Given the description of an element on the screen output the (x, y) to click on. 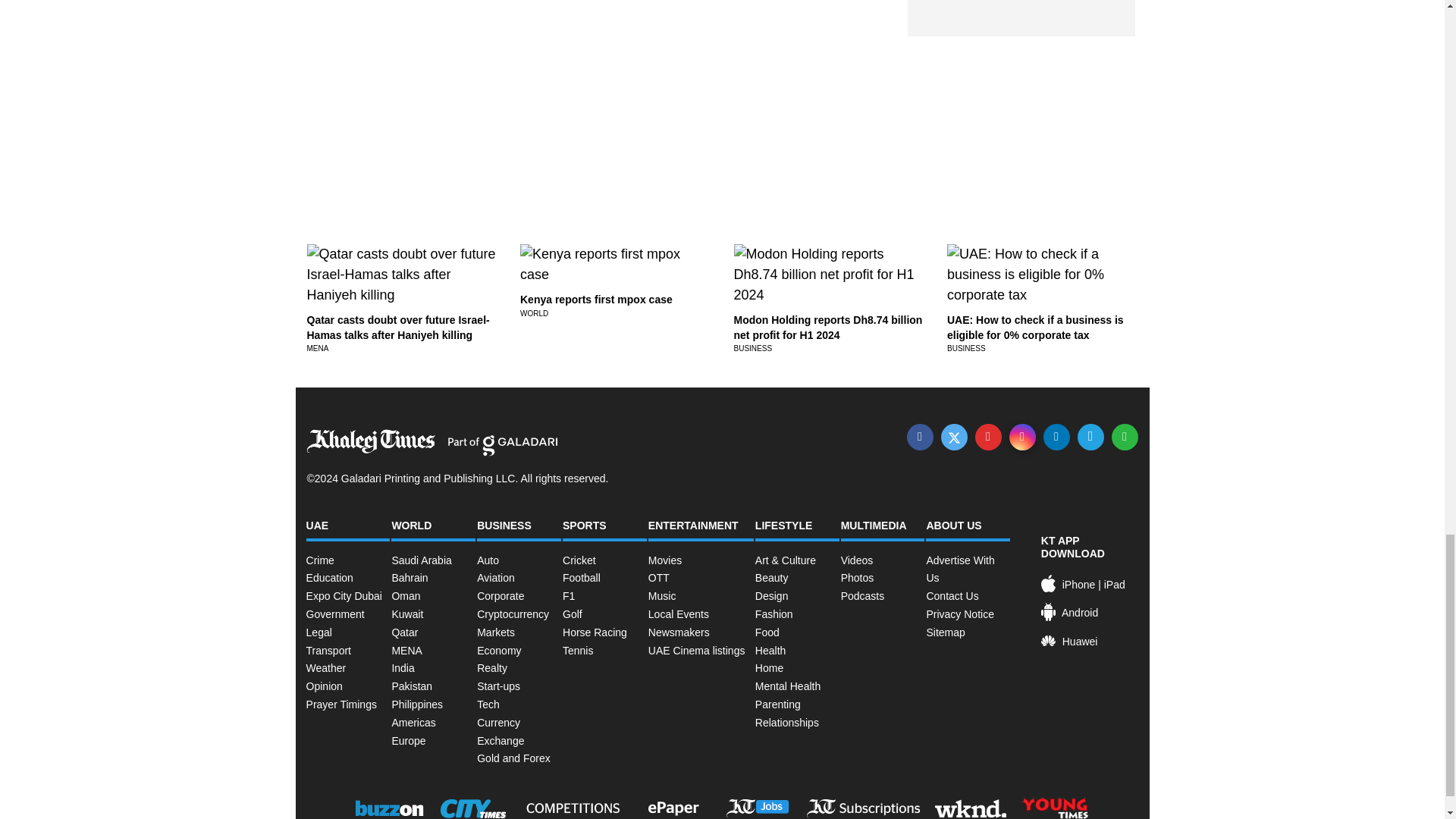
Kenya reports first mpox case (595, 299)
Modon Holding reports Dh8.74 billion net profit for H1 2024 (828, 327)
